Given the description of an element on the screen output the (x, y) to click on. 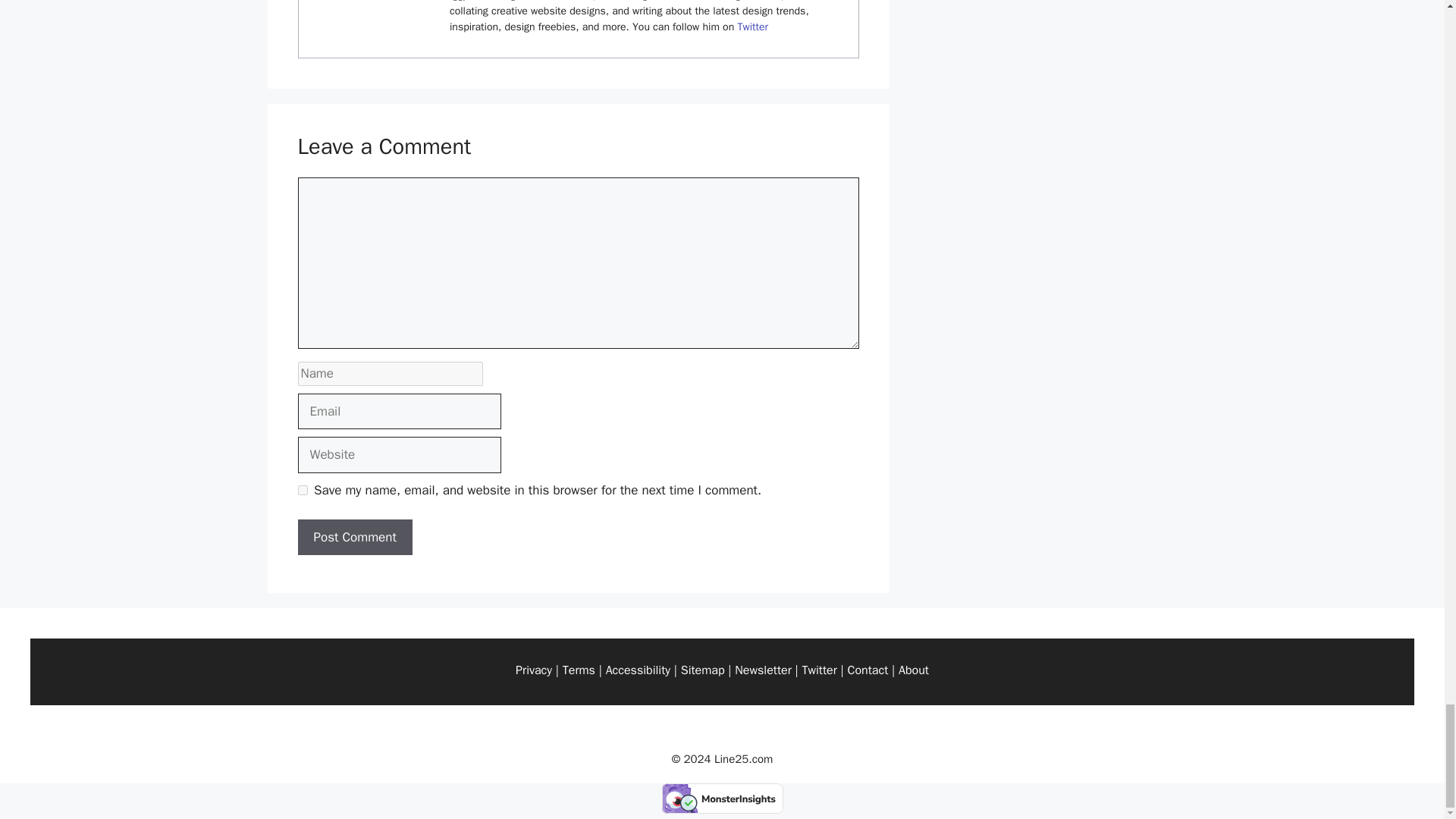
yes (302, 490)
Post Comment (354, 537)
Verified by MonsterInsights (722, 798)
